Given the description of an element on the screen output the (x, y) to click on. 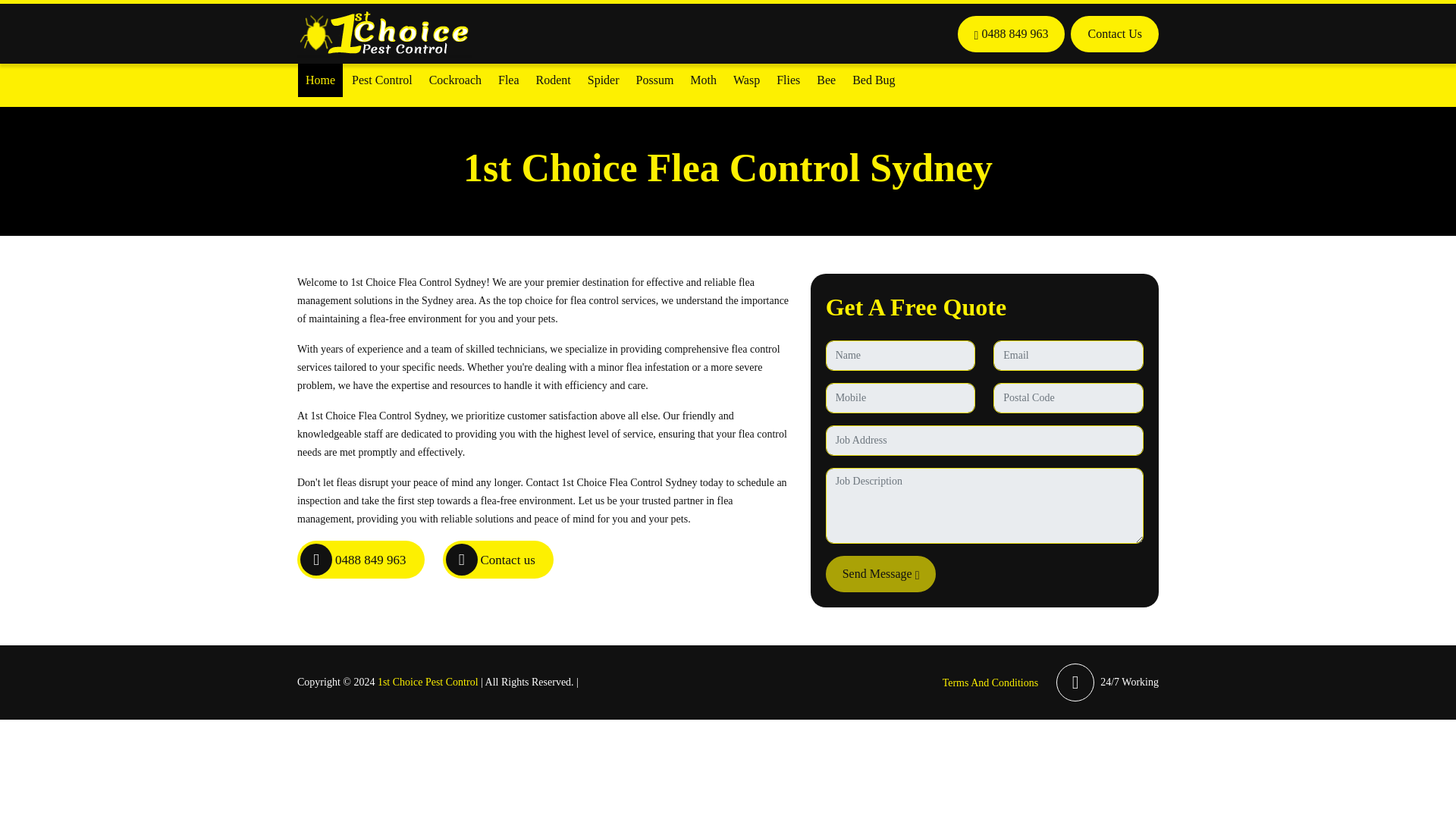
Contact Us (1114, 33)
Pest Control (381, 80)
Cockroach (455, 80)
Rodent (553, 80)
0488 849 963 (1011, 33)
Flea (508, 80)
Spider (603, 80)
Home (320, 80)
